Given the description of an element on the screen output the (x, y) to click on. 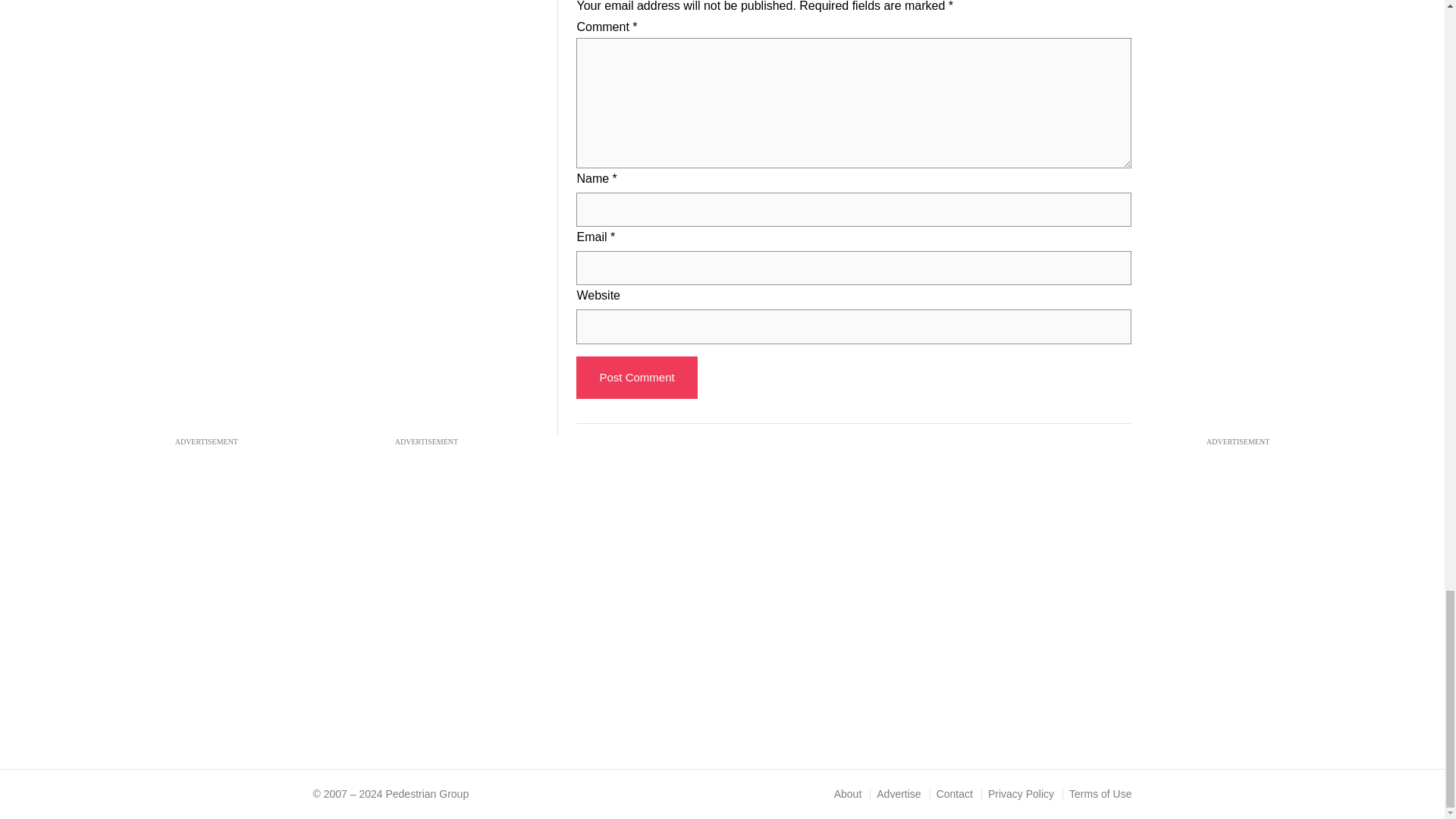
3rd party ad content (426, 69)
Post Comment (636, 377)
